Given the description of an element on the screen output the (x, y) to click on. 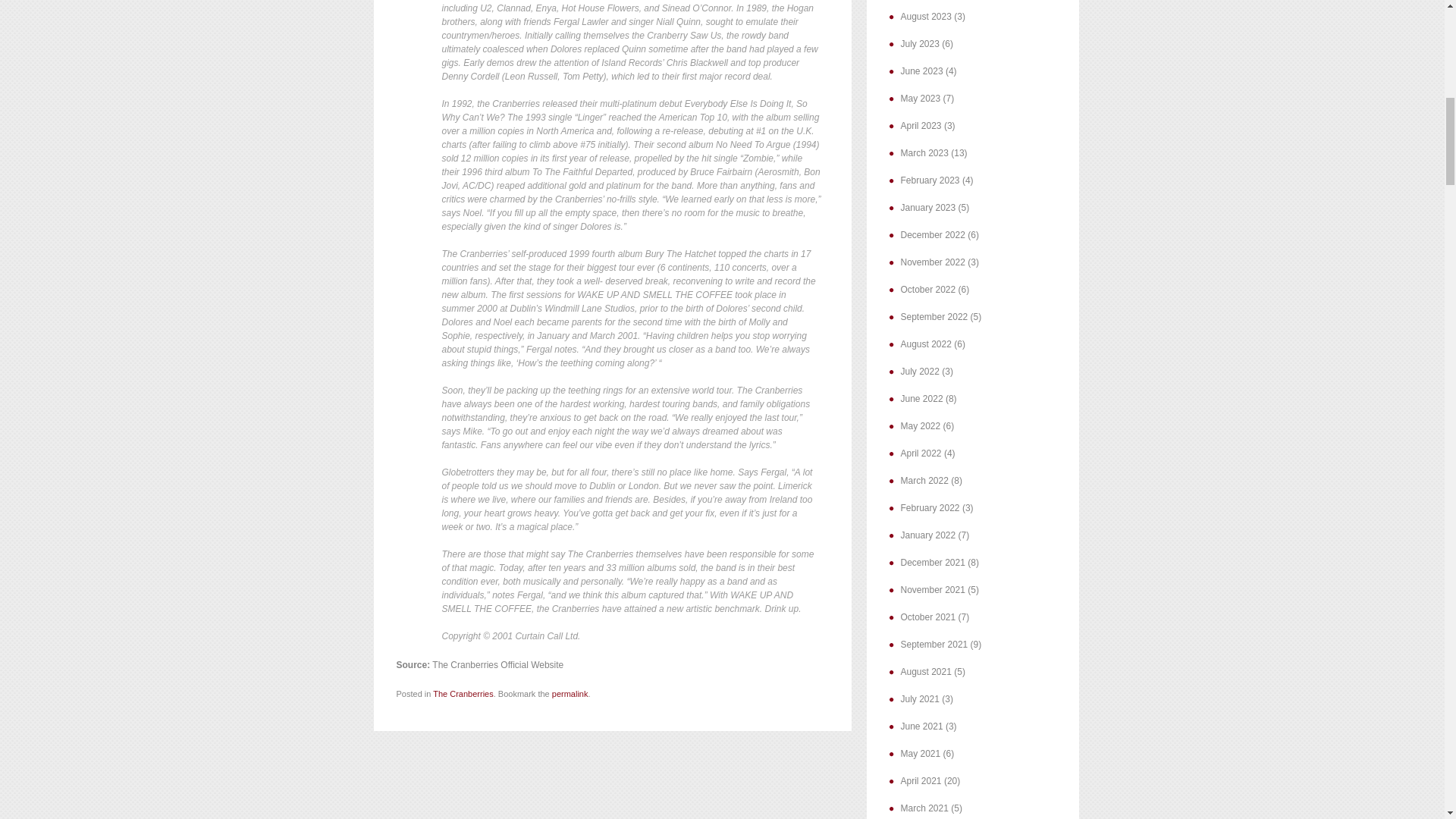
Permalink to MCA official band bio released (569, 693)
